Given the description of an element on the screen output the (x, y) to click on. 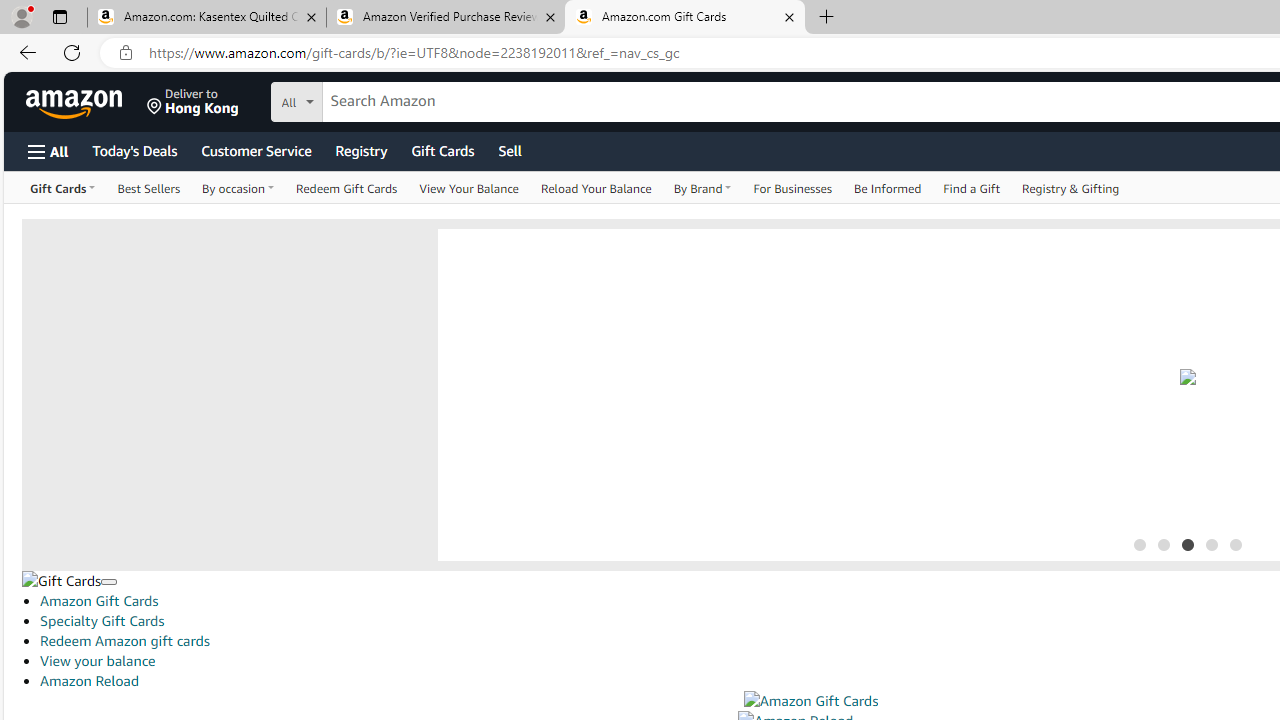
Search in (371, 99)
Amazon Reload (89, 680)
Today's Deals (134, 150)
Gift Cards (442, 150)
Amazon.com Gift Cards (684, 17)
Amazon (76, 101)
Redeem Gift Cards (347, 187)
Customer Service (256, 150)
Redeem Amazon gift cards (124, 641)
Toggle Navigation (108, 582)
Open Menu (48, 151)
